Given the description of an element on the screen output the (x, y) to click on. 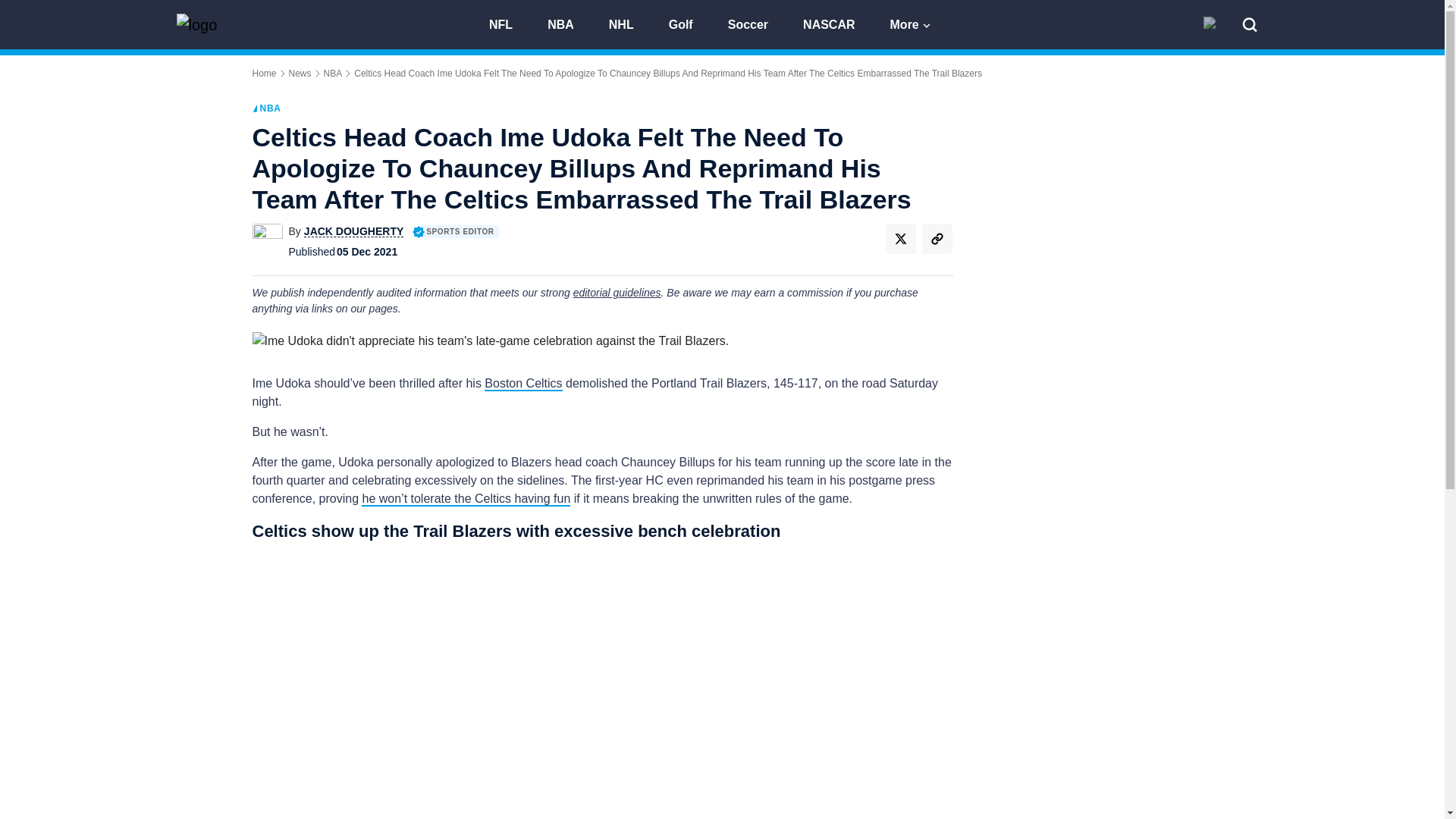
NBA (332, 72)
Soccer (754, 22)
NHL (628, 22)
NASCAR (835, 22)
News (299, 72)
NFL (508, 22)
Golf (687, 22)
NBA (567, 22)
Home (263, 72)
More (911, 22)
